Given the description of an element on the screen output the (x, y) to click on. 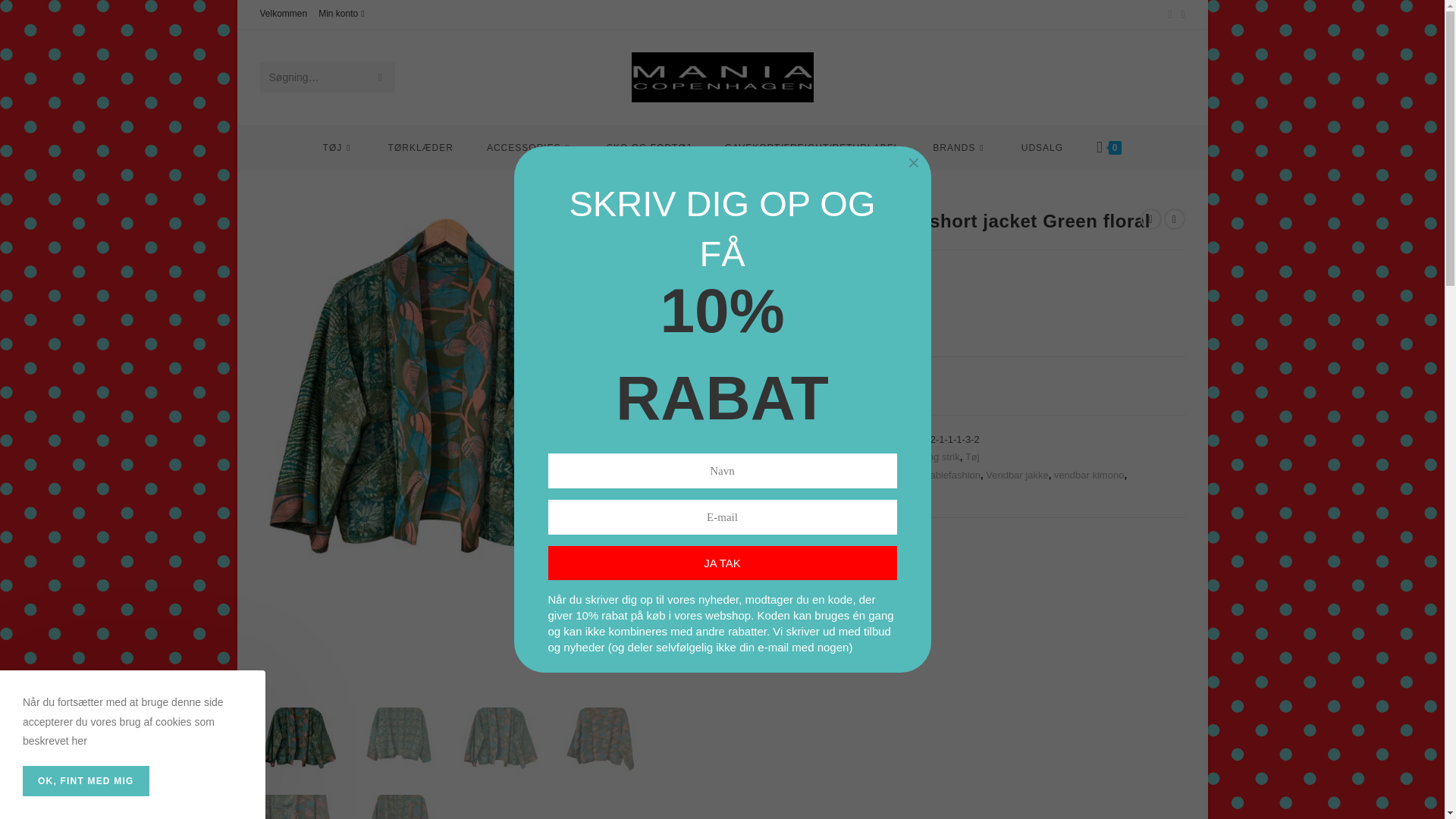
Min konto (343, 13)
Velkommen (283, 13)
BRANDS (959, 147)
ACCESSORIES (529, 147)
